Given the description of an element on the screen output the (x, y) to click on. 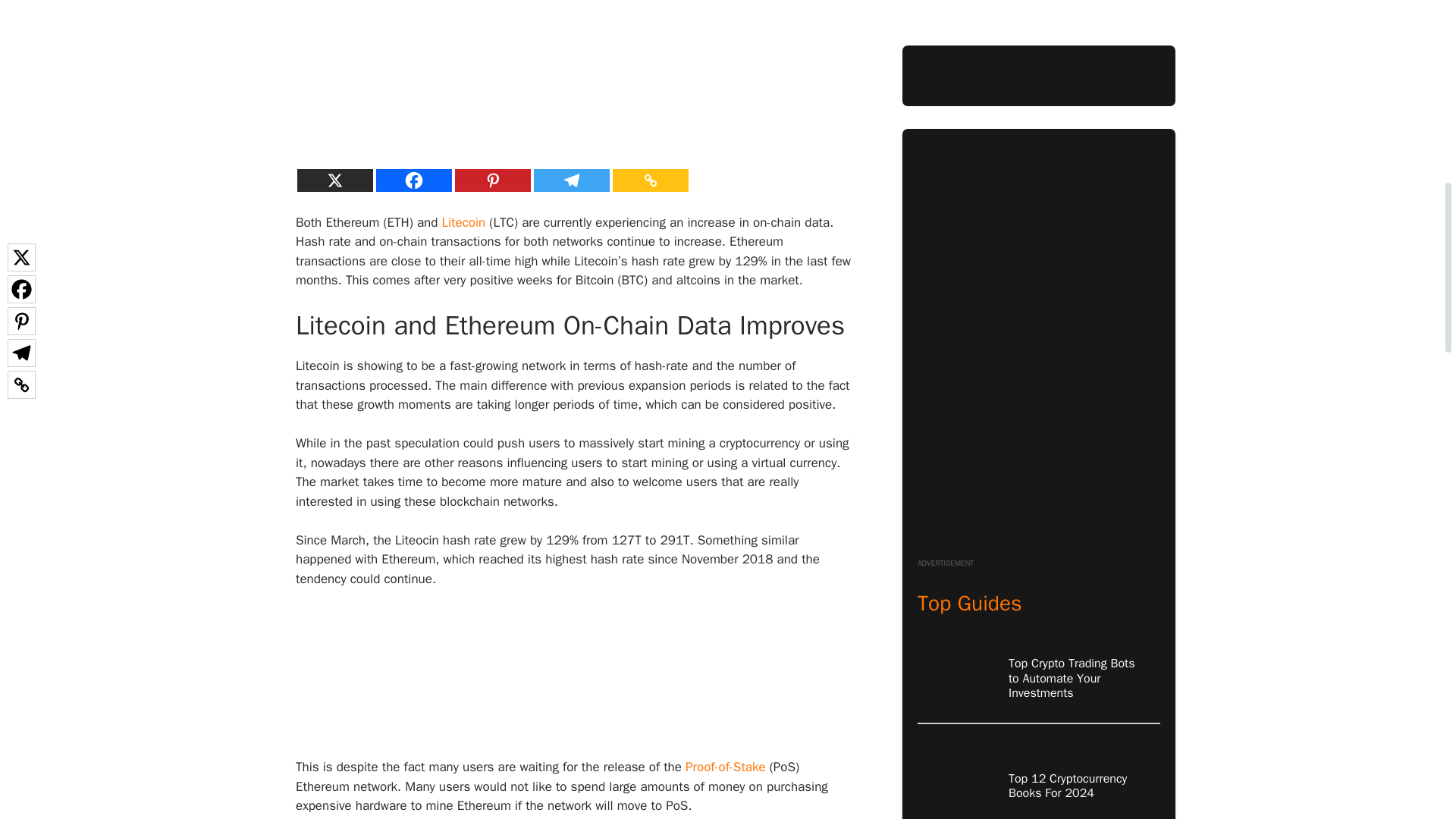
Telegram (572, 179)
Facebook (413, 179)
Pinterest (492, 179)
X (334, 179)
Copy Link (650, 179)
